Given the description of an element on the screen output the (x, y) to click on. 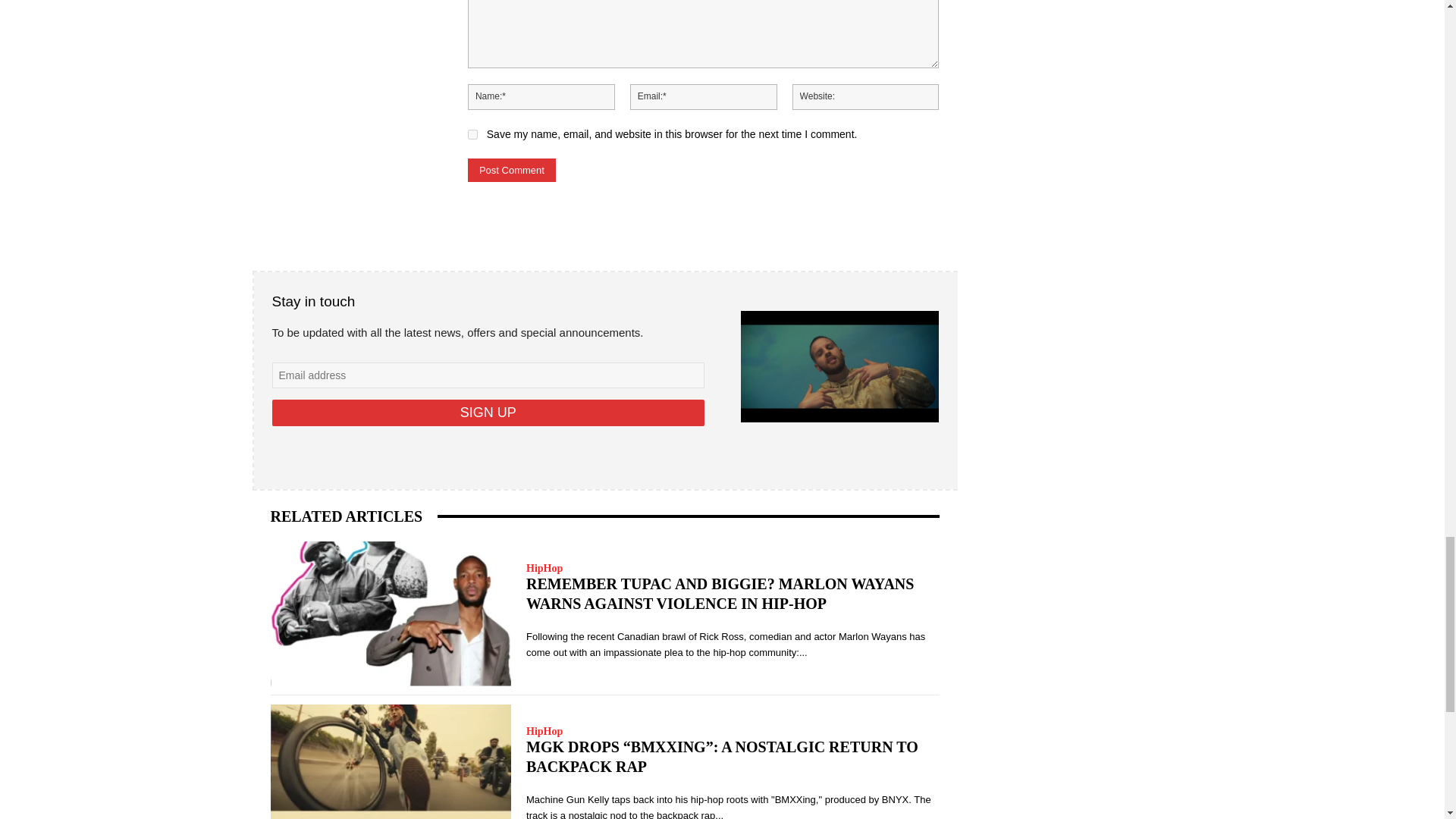
Post Comment (511, 169)
yes (472, 134)
